Given the description of an element on the screen output the (x, y) to click on. 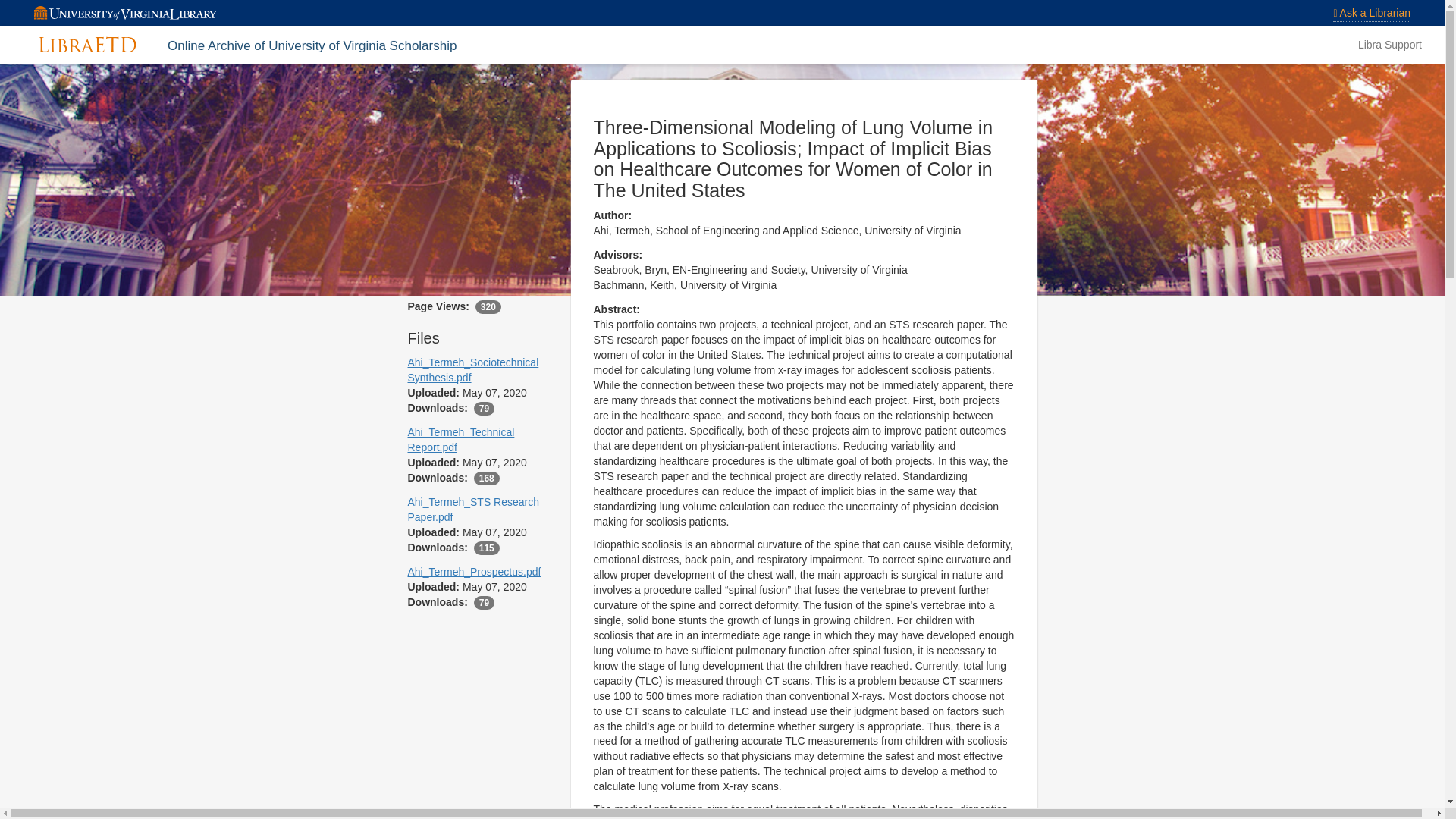
Ask a Librarian (1371, 13)
Libra Support (1389, 44)
